Given the description of an element on the screen output the (x, y) to click on. 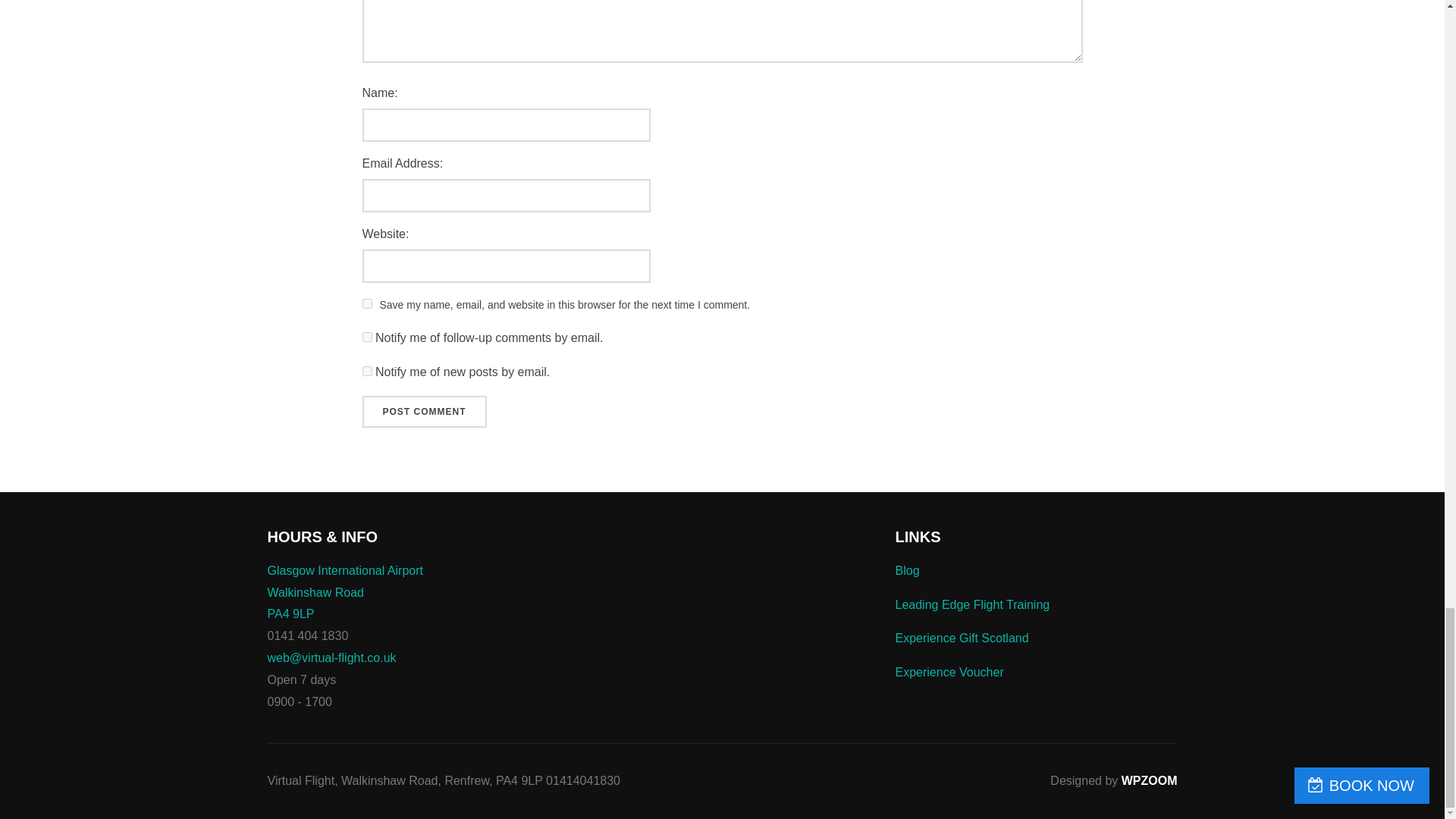
subscribe (367, 370)
subscribe (367, 337)
yes (367, 302)
Post Comment (424, 411)
